Given the description of an element on the screen output the (x, y) to click on. 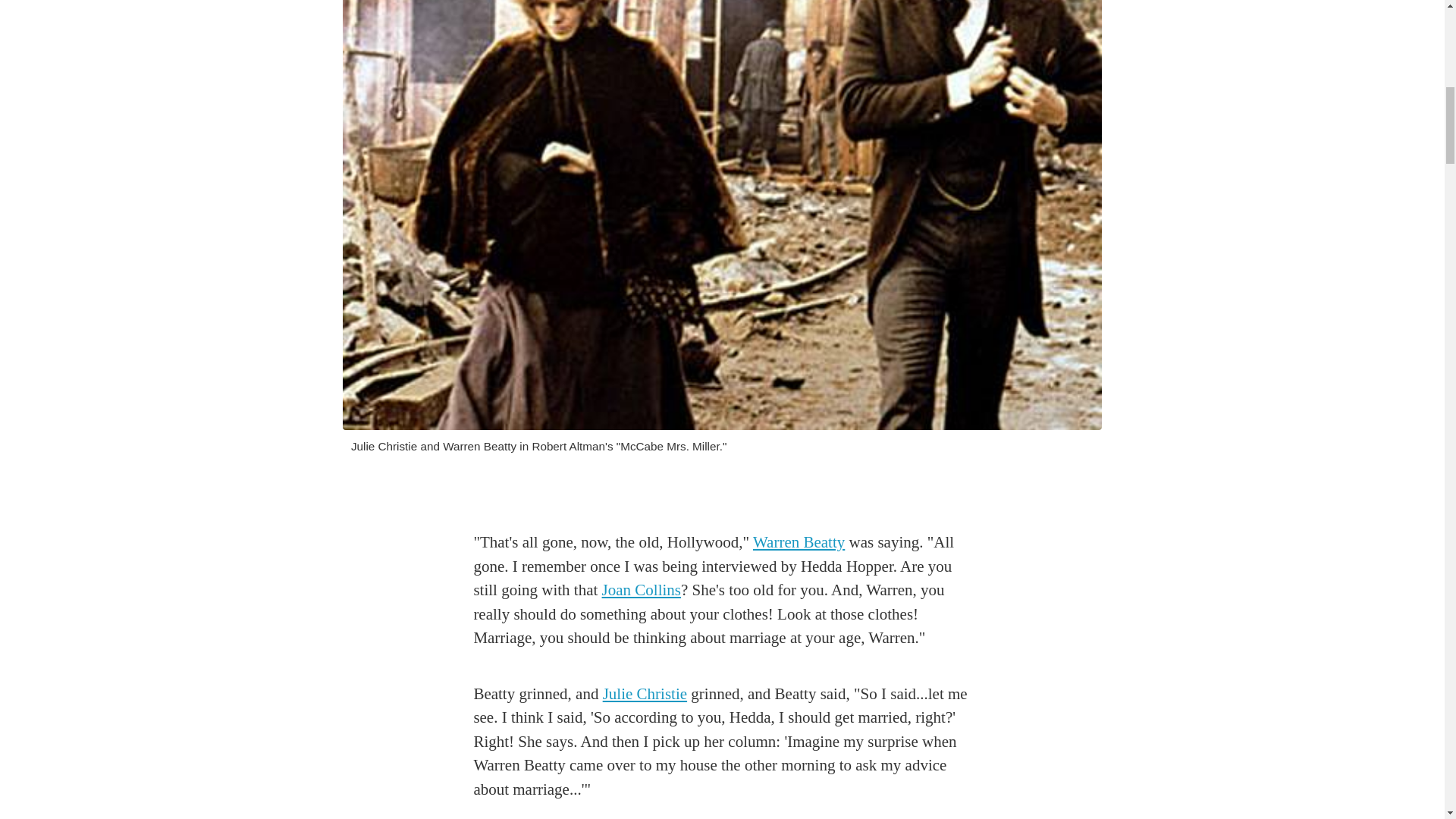
Warren Beatty (798, 542)
Joan Collins (641, 589)
Julie Christie (644, 693)
